Given the description of an element on the screen output the (x, y) to click on. 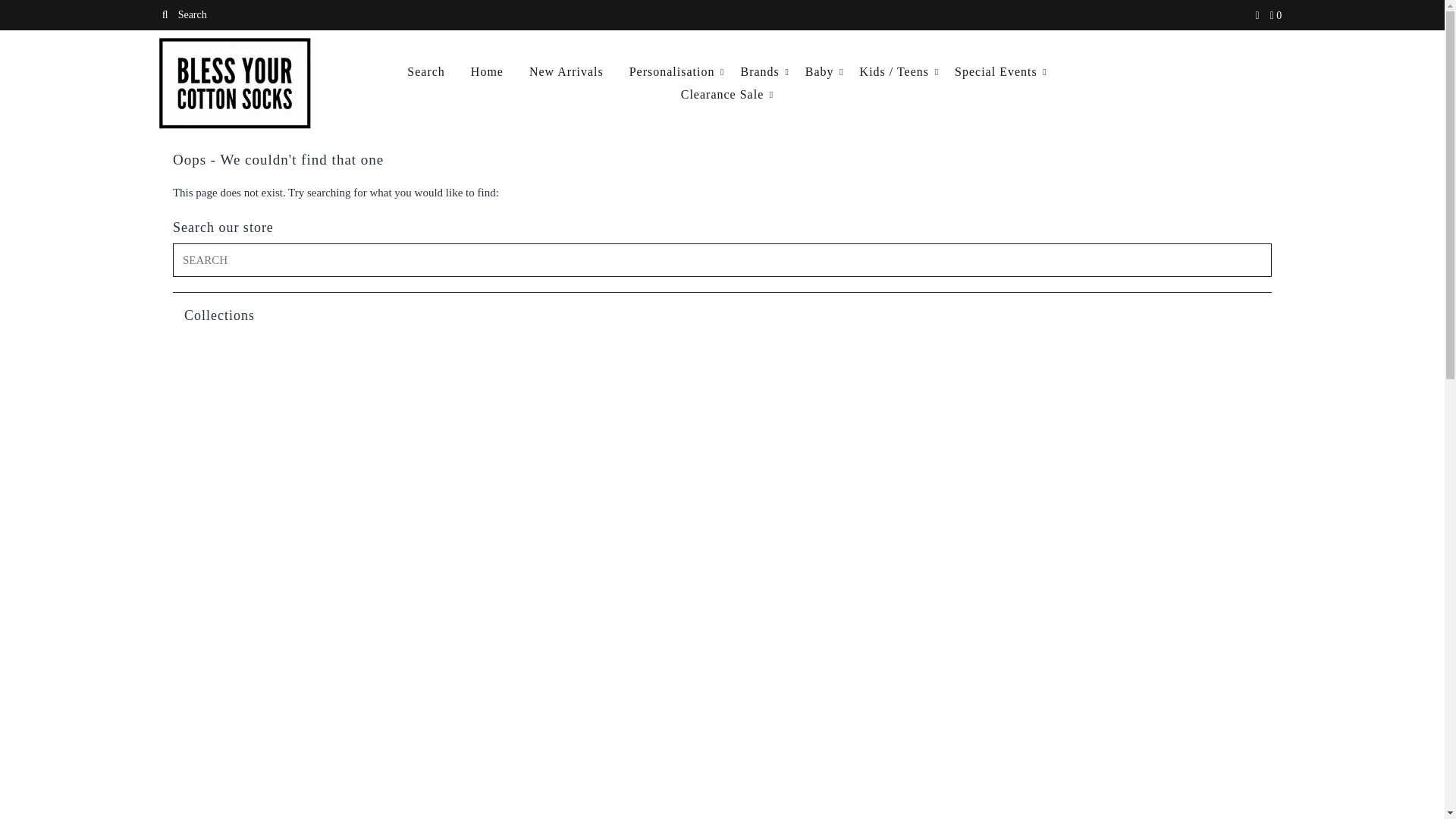
Baby (582, 349)
Baby Clearance (1141, 349)
Baby Hair (302, 368)
Alimrose (303, 349)
Baby Bedding (861, 349)
Adored Illustrations (581, 330)
Baby Hats and Beanies (581, 368)
Alcoholder (1141, 330)
Adult Clearance (862, 330)
